Given the description of an element on the screen output the (x, y) to click on. 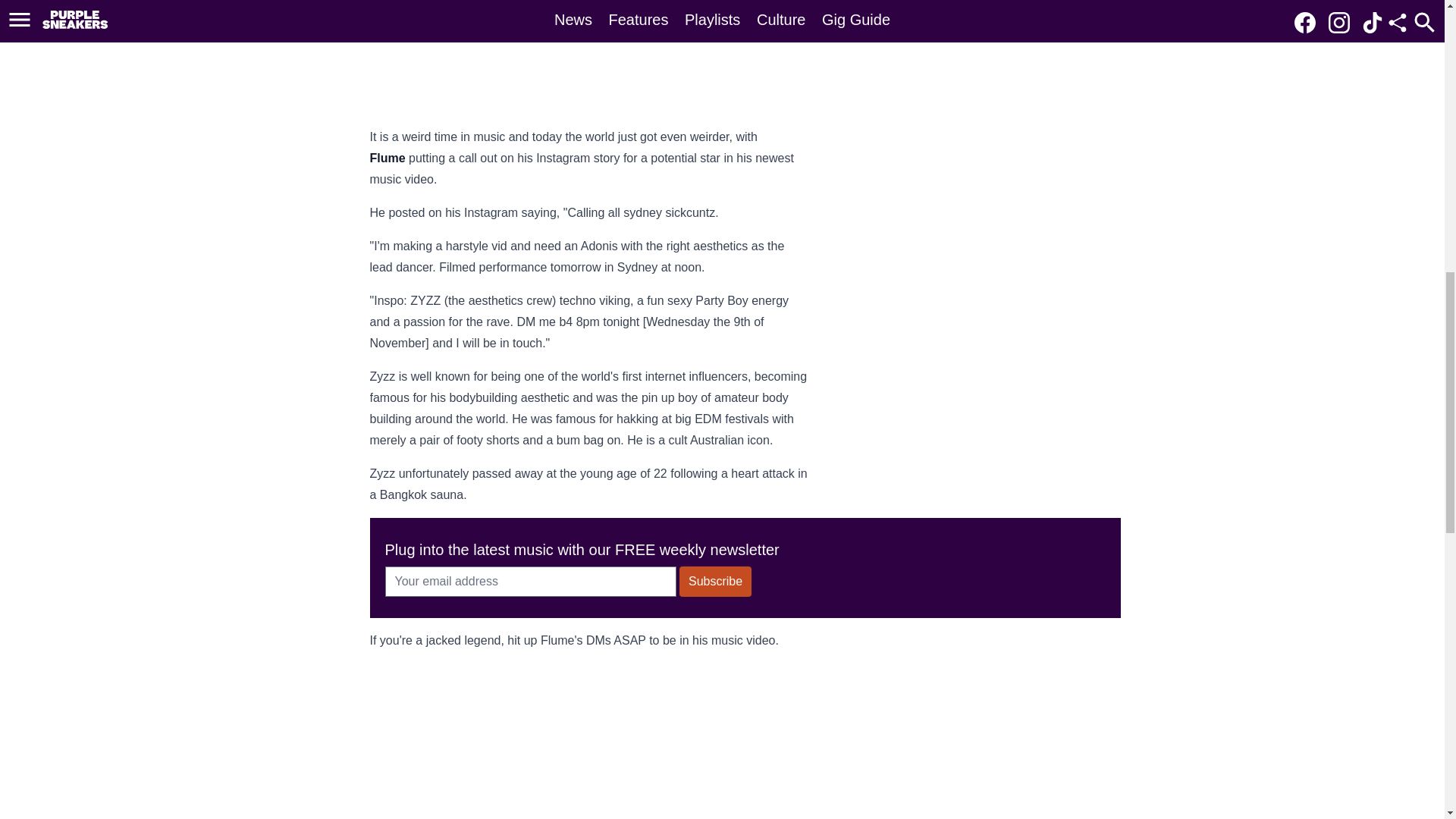
Subscribe (715, 581)
